Given the description of an element on the screen output the (x, y) to click on. 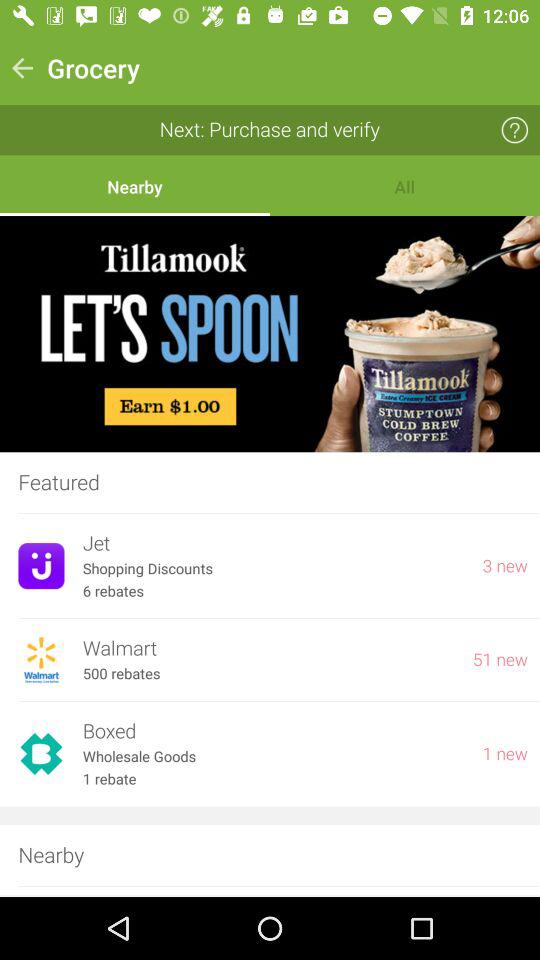
open item to the left of 1 new (273, 731)
